Given the description of an element on the screen output the (x, y) to click on. 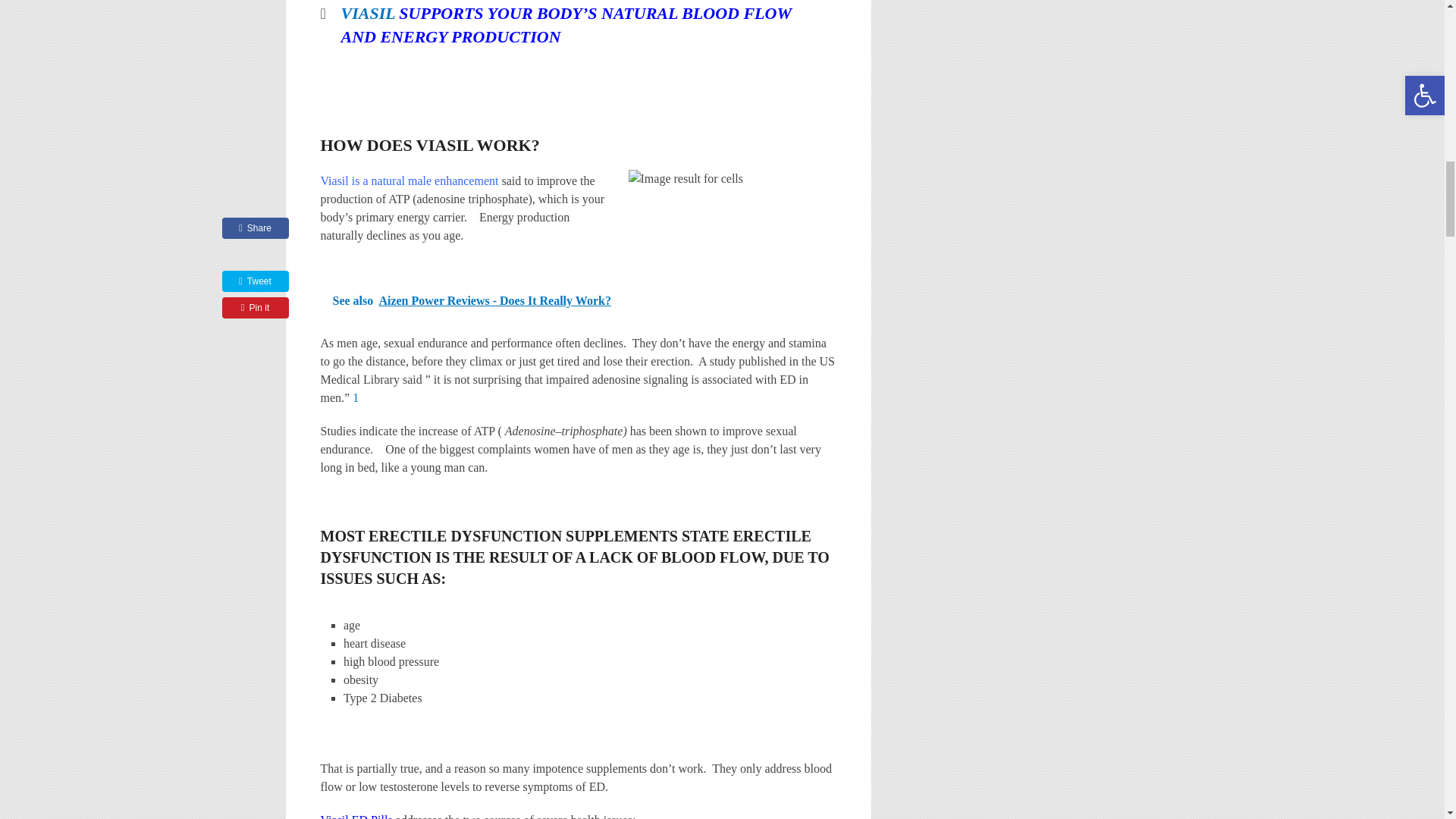
VIASIL (367, 13)
1 (355, 397)
See also  Aizen Power Reviews - Does It Really Work? (577, 301)
Viasil ED Pills (357, 816)
Viasil is a natural male enhancement (408, 180)
